Given the description of an element on the screen output the (x, y) to click on. 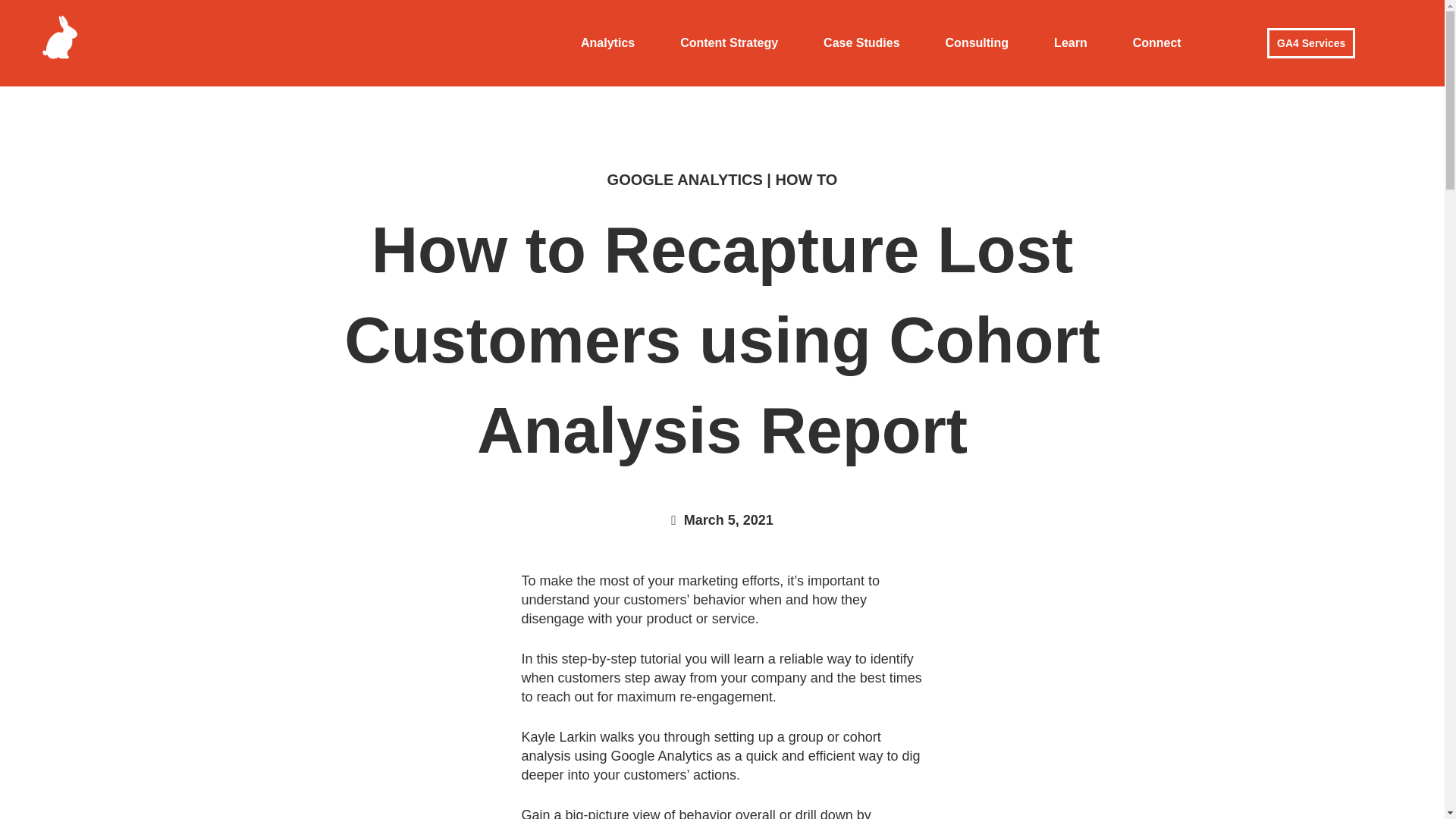
Consulting (977, 42)
Connect (1156, 42)
Analytics (607, 42)
GOOGLE ANALYTICS (684, 179)
GA4 Services (1310, 42)
Case Studies (860, 42)
Content Strategy (729, 42)
Learn (1069, 42)
HOW TO (807, 179)
